Given the description of an element on the screen output the (x, y) to click on. 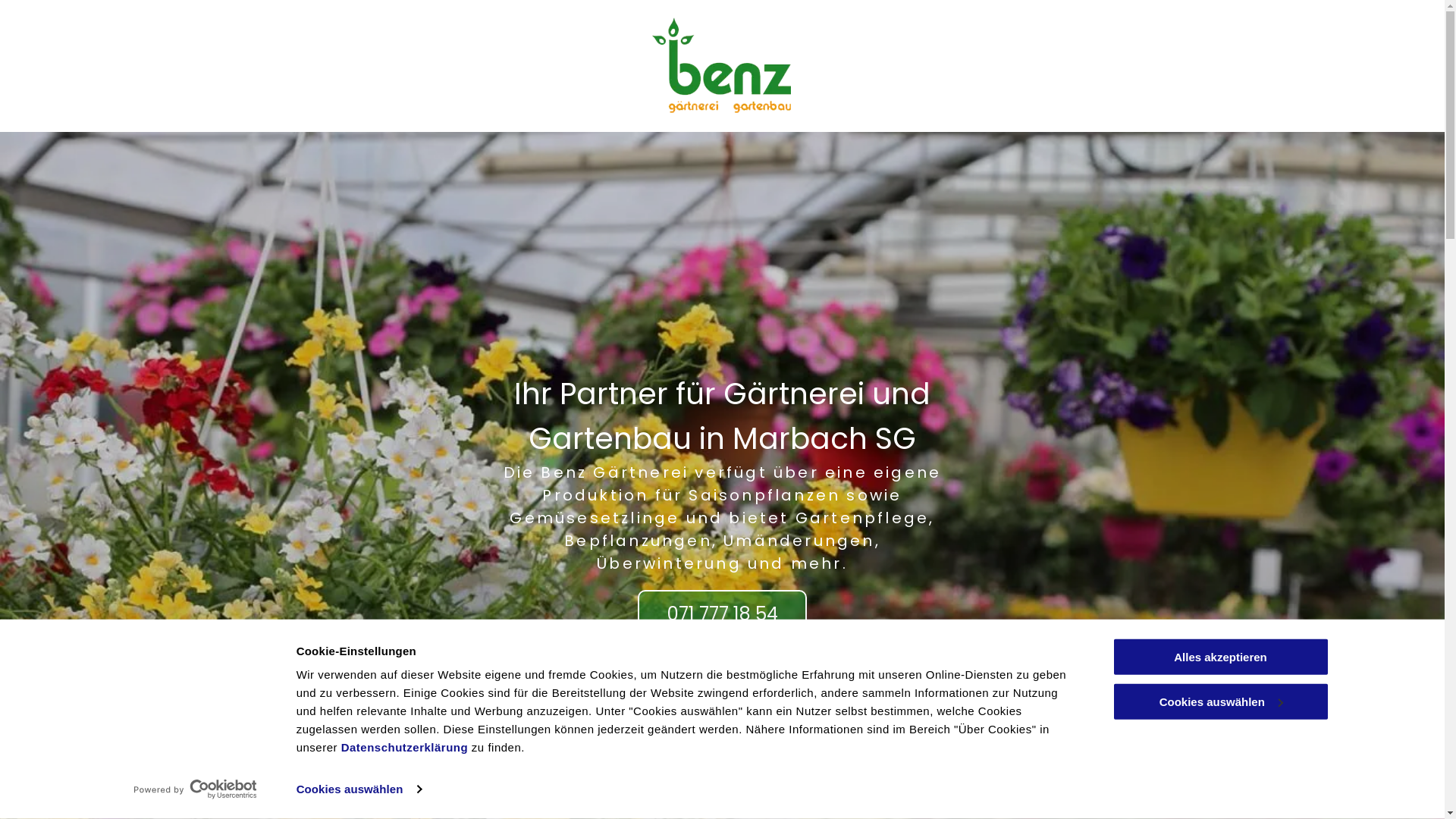
Alles akzeptieren Element type: text (1219, 656)
